Given the description of an element on the screen output the (x, y) to click on. 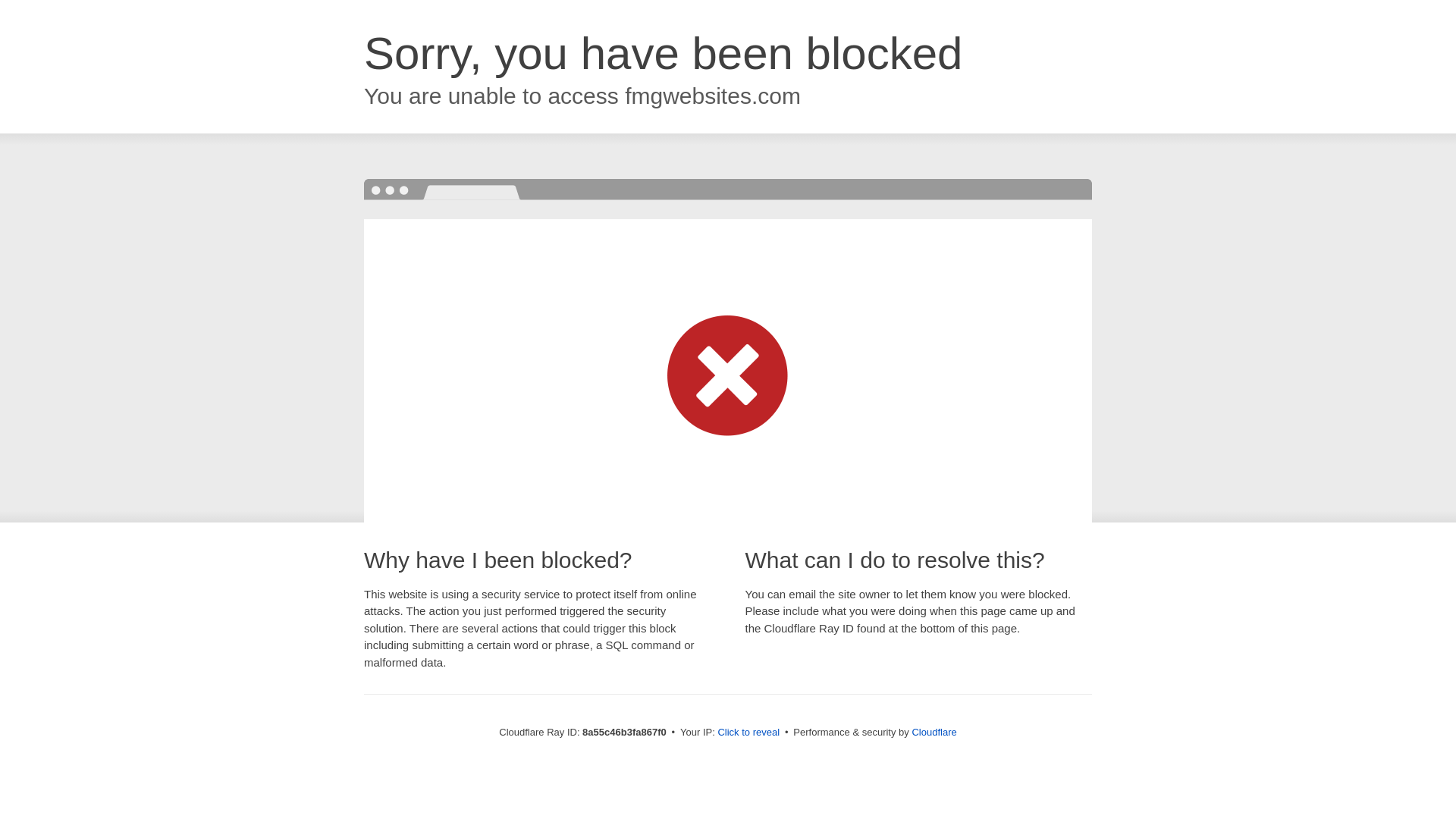
Click to reveal (747, 732)
Cloudflare (933, 731)
